Given the description of an element on the screen output the (x, y) to click on. 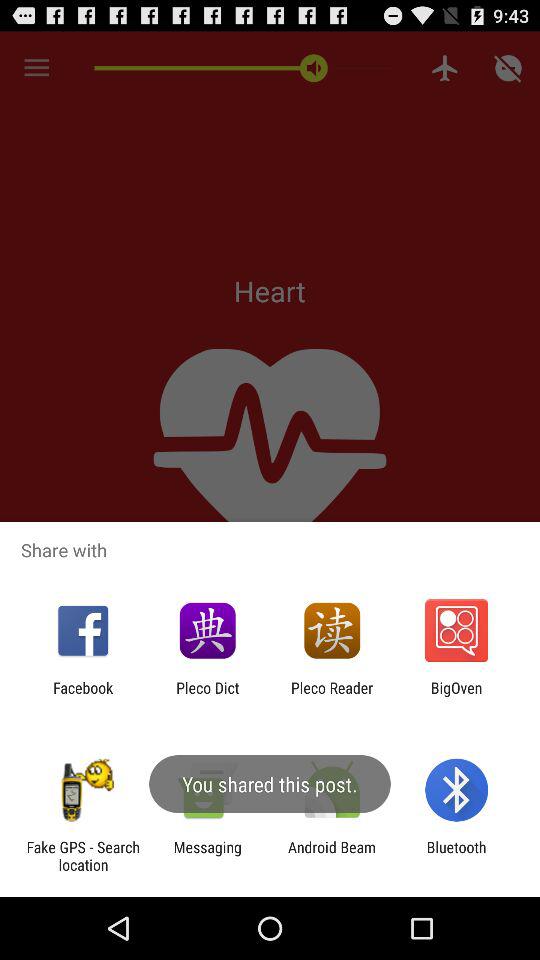
press pleco dict item (207, 696)
